Given the description of an element on the screen output the (x, y) to click on. 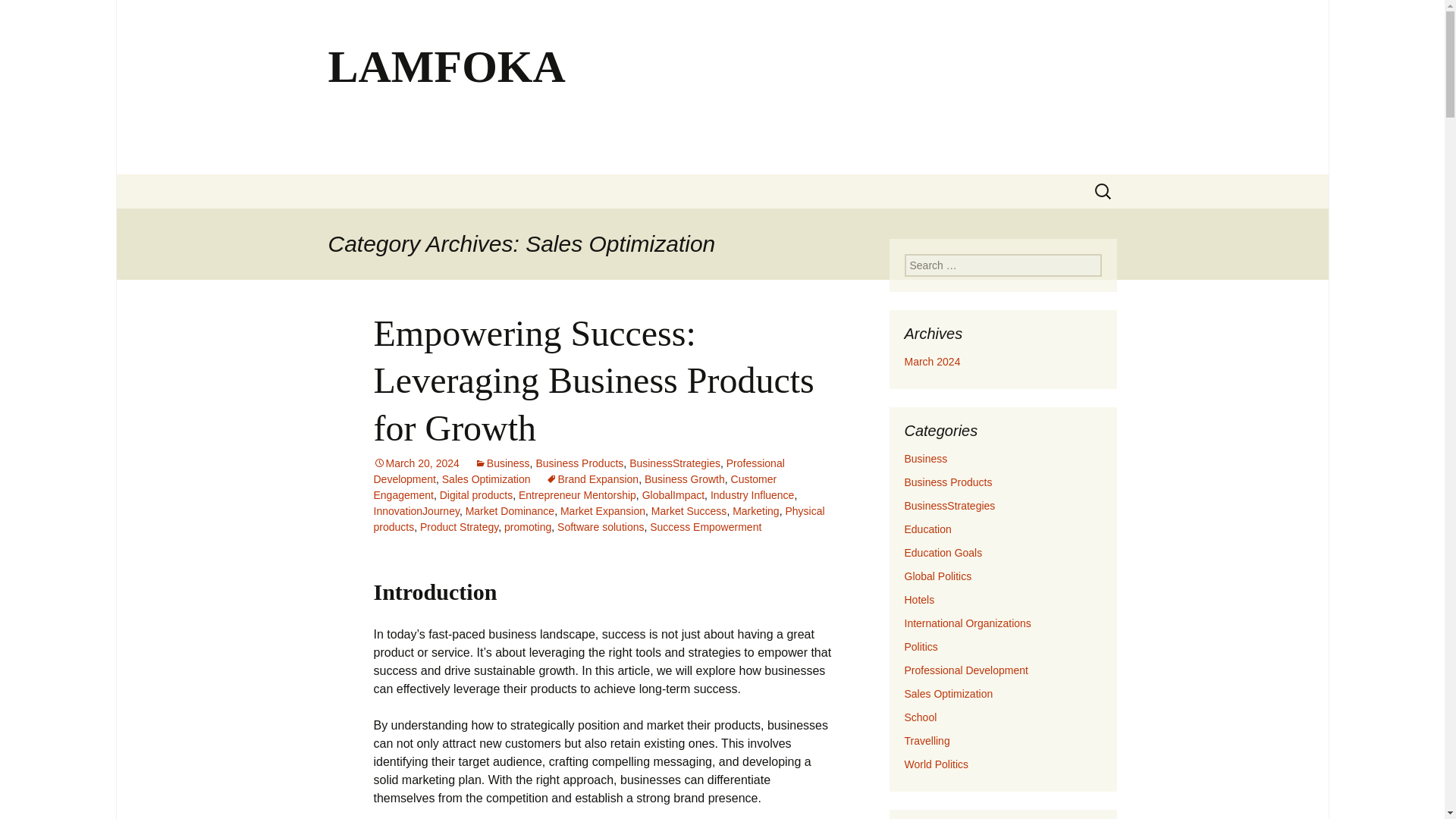
Brand Expansion (592, 479)
Business Products (579, 463)
Success Empowerment (705, 526)
Software solutions (600, 526)
Empowering Success: Leveraging Business Products for Growth (592, 379)
InnovationJourney (415, 510)
Business Products (947, 481)
Physical products (598, 519)
Business (925, 458)
Market Expansion (602, 510)
Sales Optimization (486, 479)
Politics (920, 646)
Product Strategy (458, 526)
Search (18, 15)
